Given the description of an element on the screen output the (x, y) to click on. 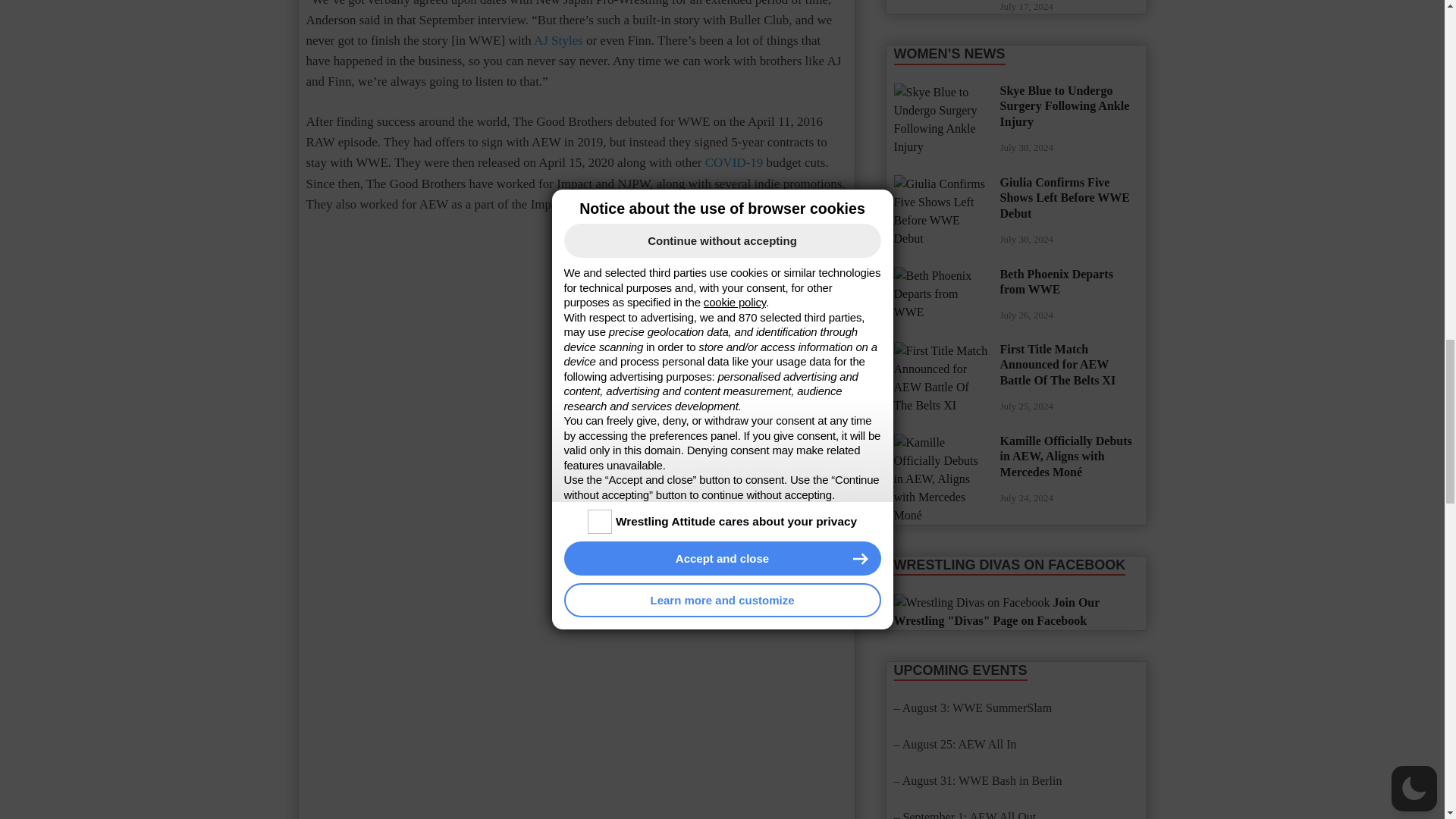
COVID-19 (733, 162)
AJ Styles (558, 40)
